Given the description of an element on the screen output the (x, y) to click on. 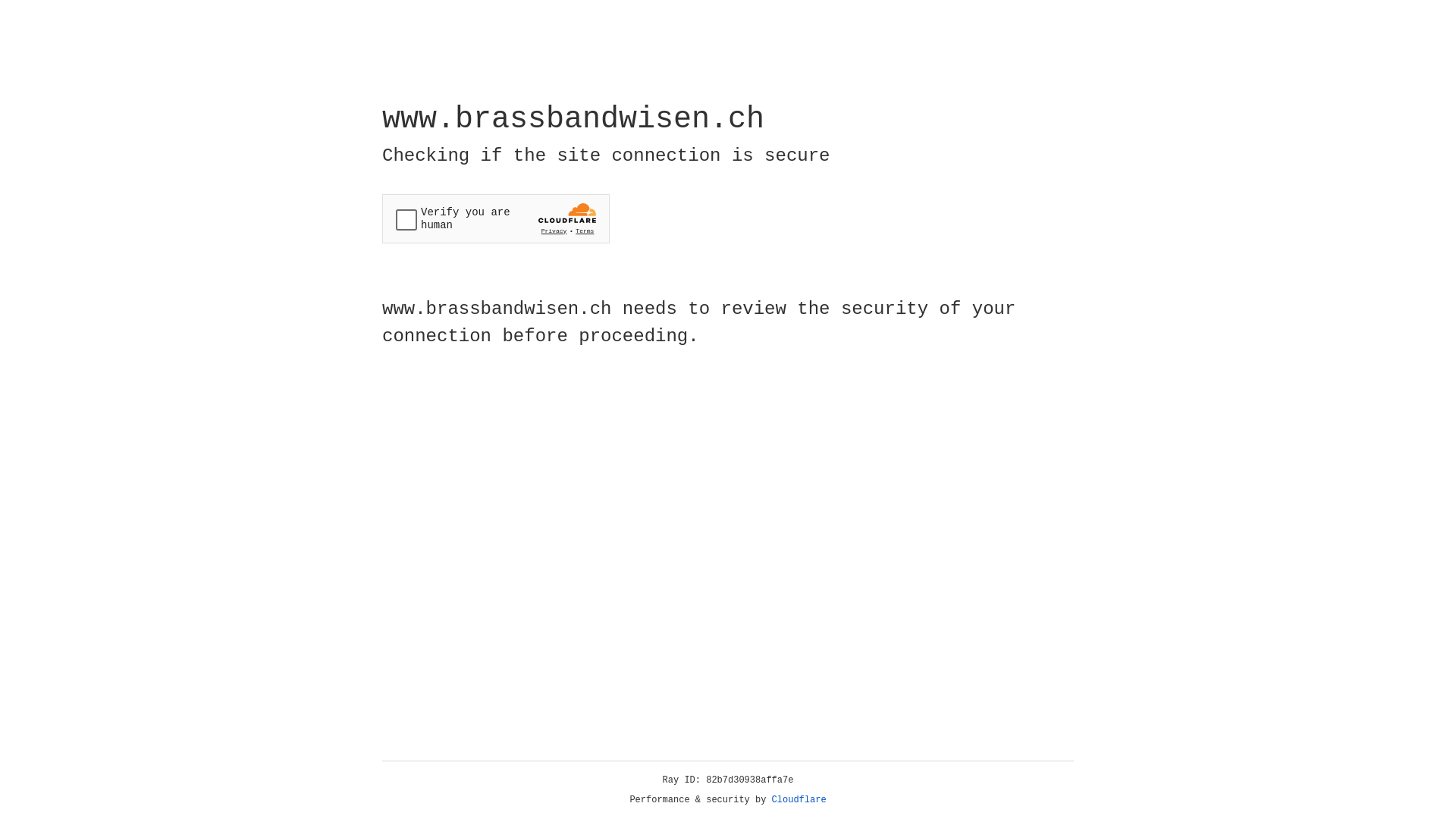
Cloudflare Element type: text (798, 799)
Widget containing a Cloudflare security challenge Element type: hover (495, 218)
